Given the description of an element on the screen output the (x, y) to click on. 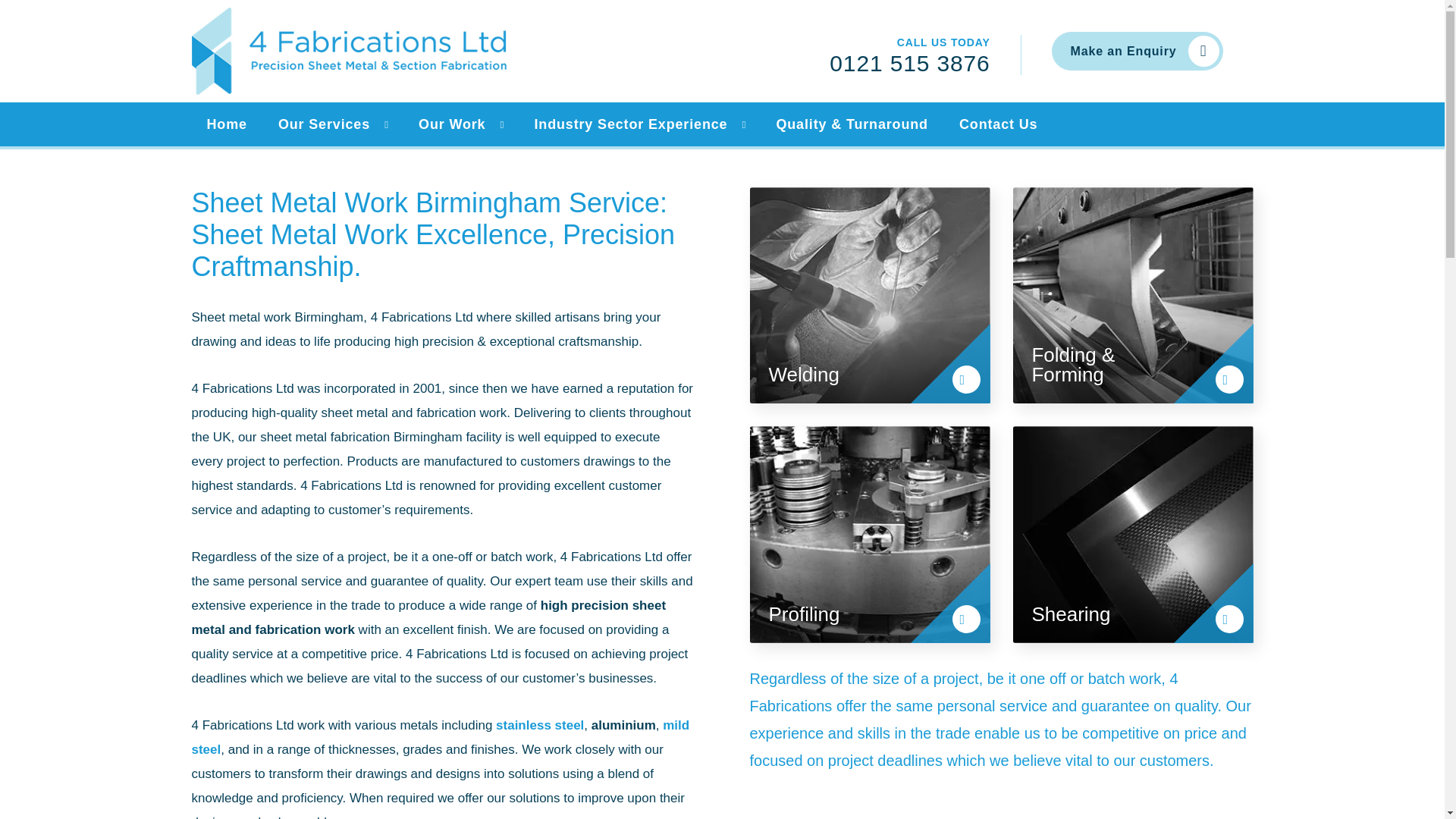
0121 515 3876 (909, 62)
Our Services (321, 124)
Home (223, 124)
stainless steel (539, 725)
mild steel (439, 737)
4 Fabrications Ltd (347, 51)
Industry Sector Experience (628, 124)
Contact Us (995, 124)
Our Work (449, 124)
Make an Enquiry (1137, 50)
